Given the description of an element on the screen output the (x, y) to click on. 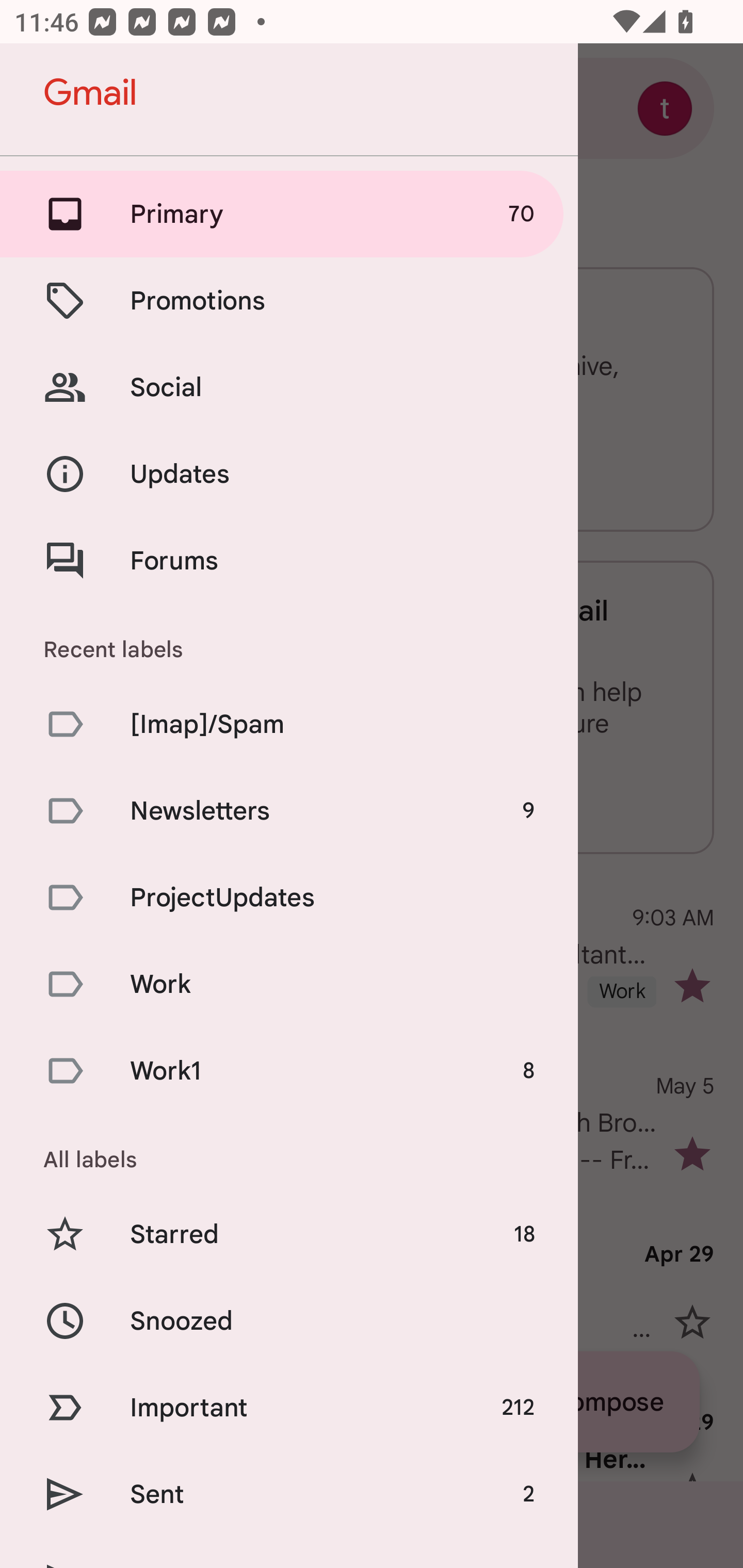
Primary 70 (289, 213)
Promotions (289, 300)
Social (289, 387)
Updates (289, 474)
Forums (289, 560)
[Imap]/Spam (289, 723)
Newsletters 9 (289, 810)
ProjectUpdates (289, 897)
Work (289, 983)
Work1 8 (289, 1070)
Starred 18 (289, 1234)
Snoozed (289, 1320)
Important 212 (289, 1407)
Sent 2 (289, 1494)
